Given the description of an element on the screen output the (x, y) to click on. 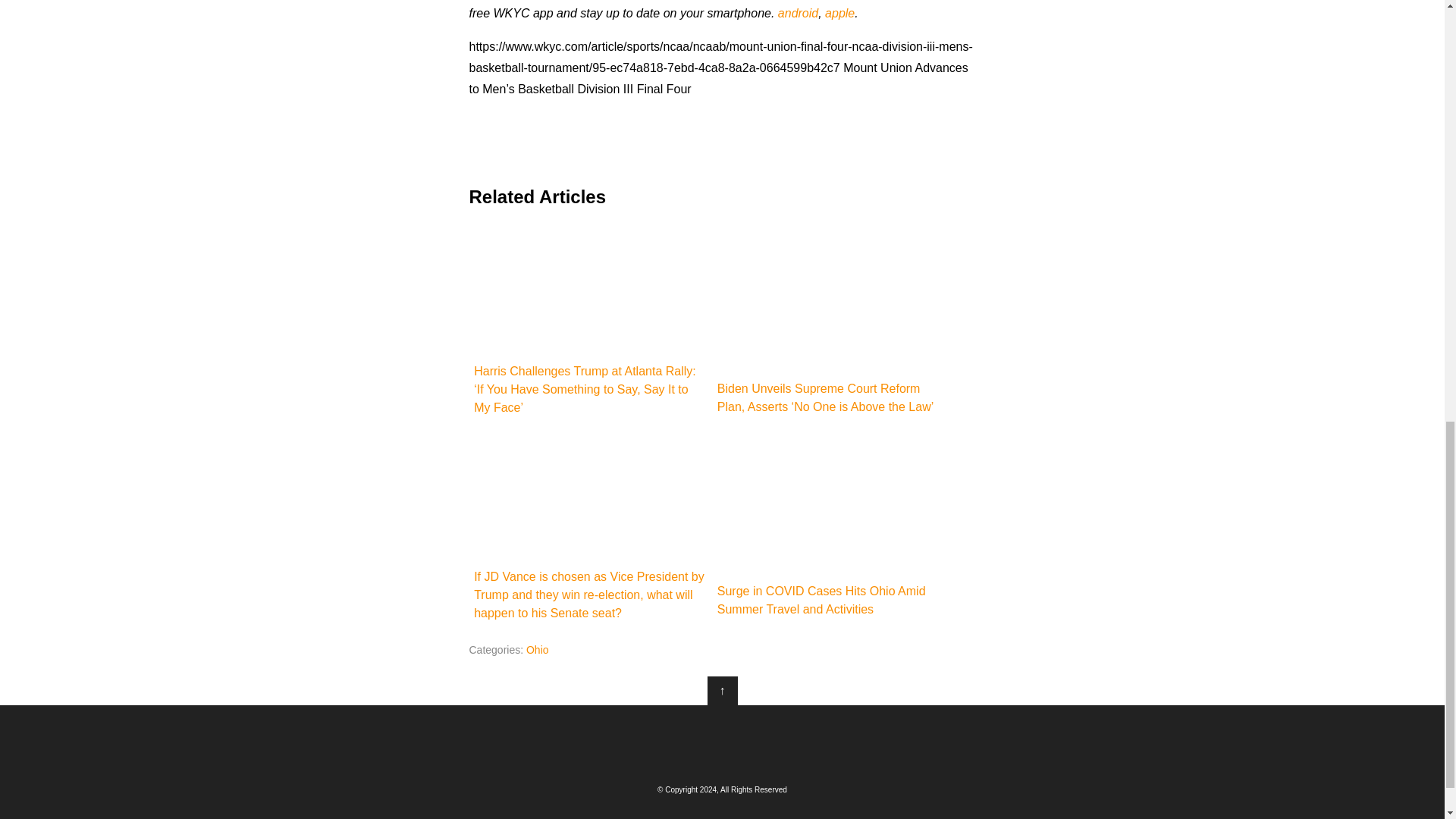
Ohionewstime.com (721, 742)
Ohio (536, 649)
android (797, 12)
apple (839, 12)
